Given the description of an element on the screen output the (x, y) to click on. 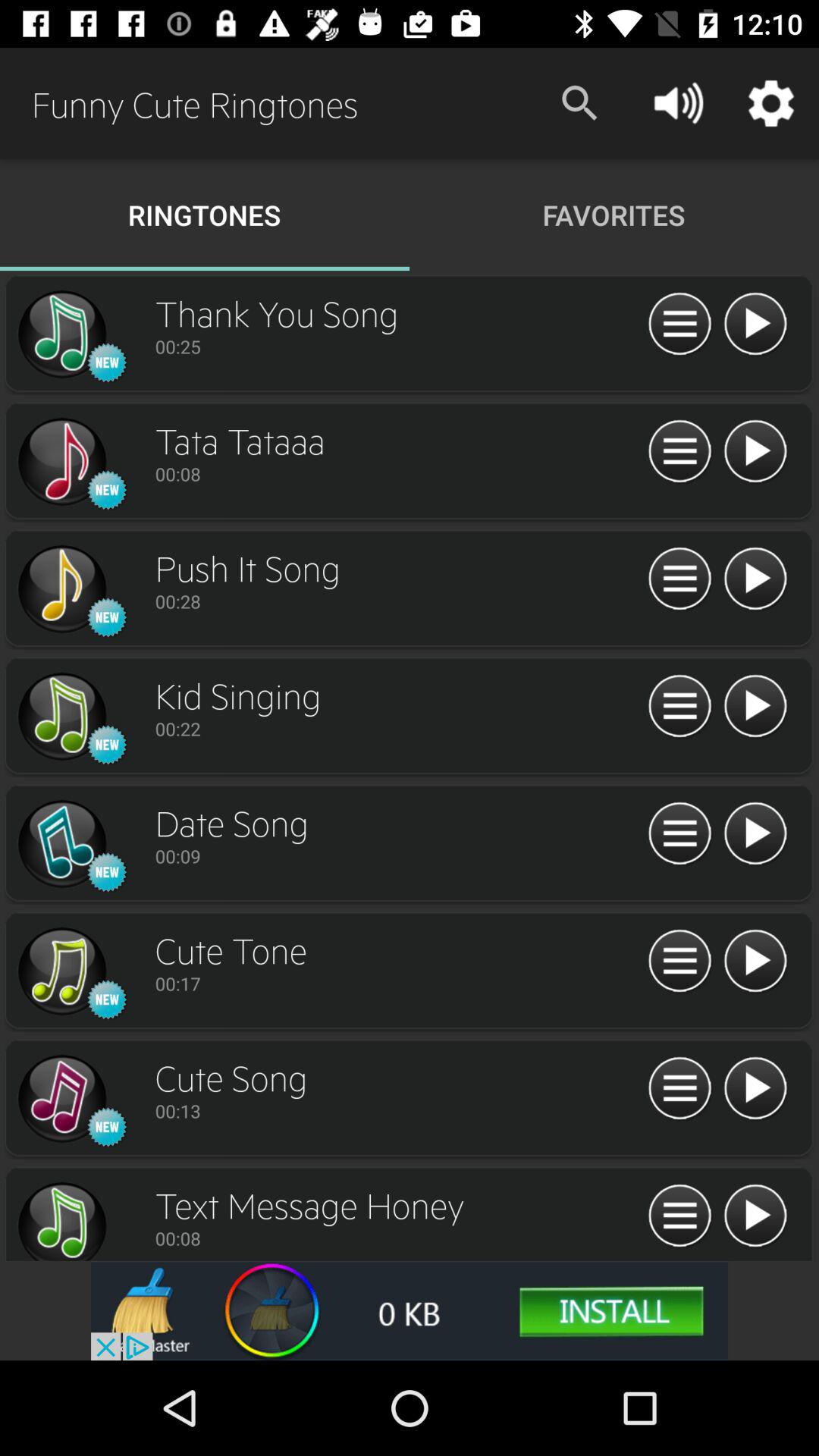
kid singing (61, 716)
